Given the description of an element on the screen output the (x, y) to click on. 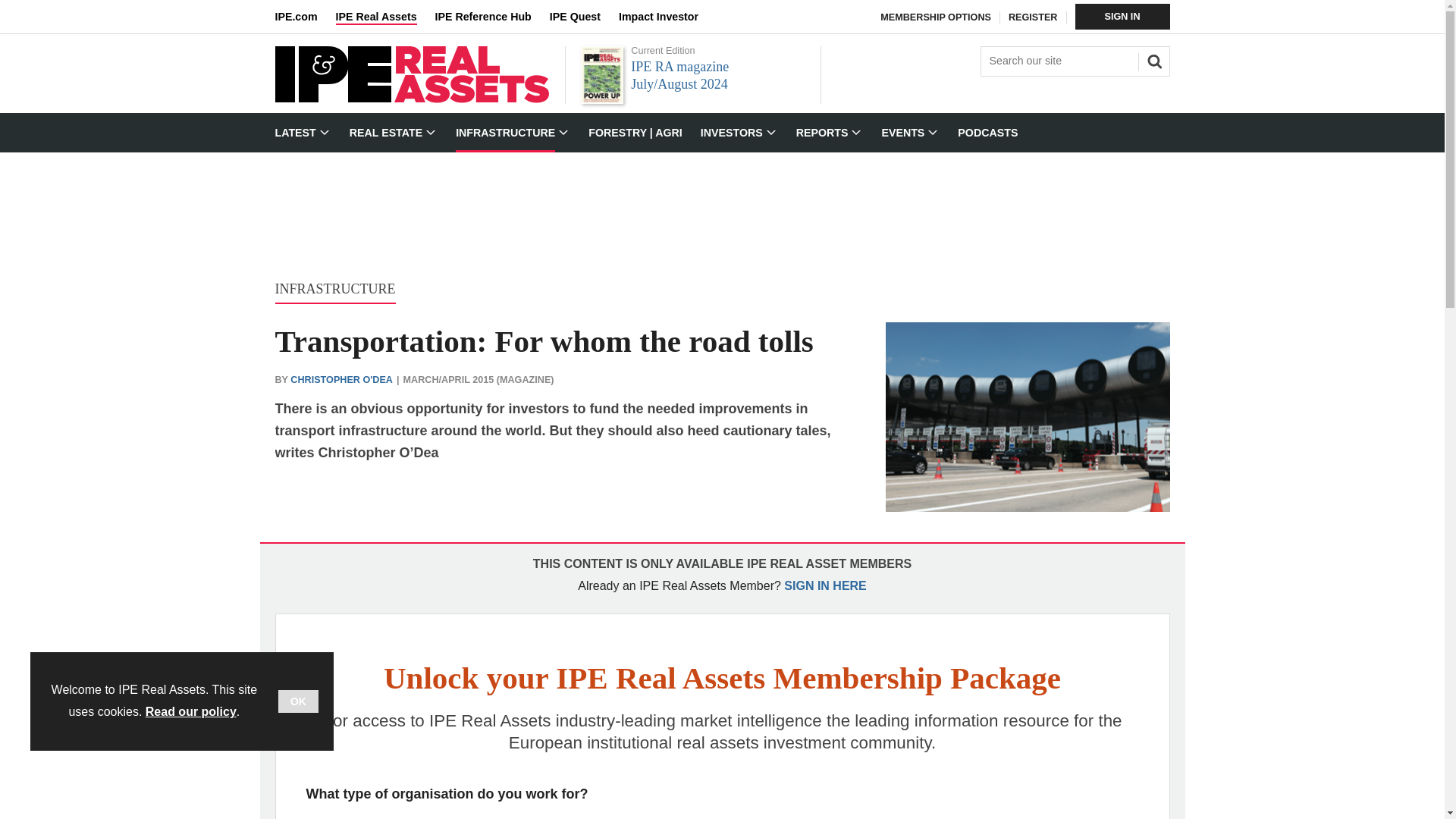
IPE.com (304, 16)
IPE Quest (583, 16)
Read our policy (190, 711)
Real Assets (411, 98)
Impact Investor (667, 16)
REGISTER (1033, 17)
IPE Reference Hub (491, 16)
Impact Investor (667, 16)
OK (298, 701)
SEARCH (1152, 59)
